Given the description of an element on the screen output the (x, y) to click on. 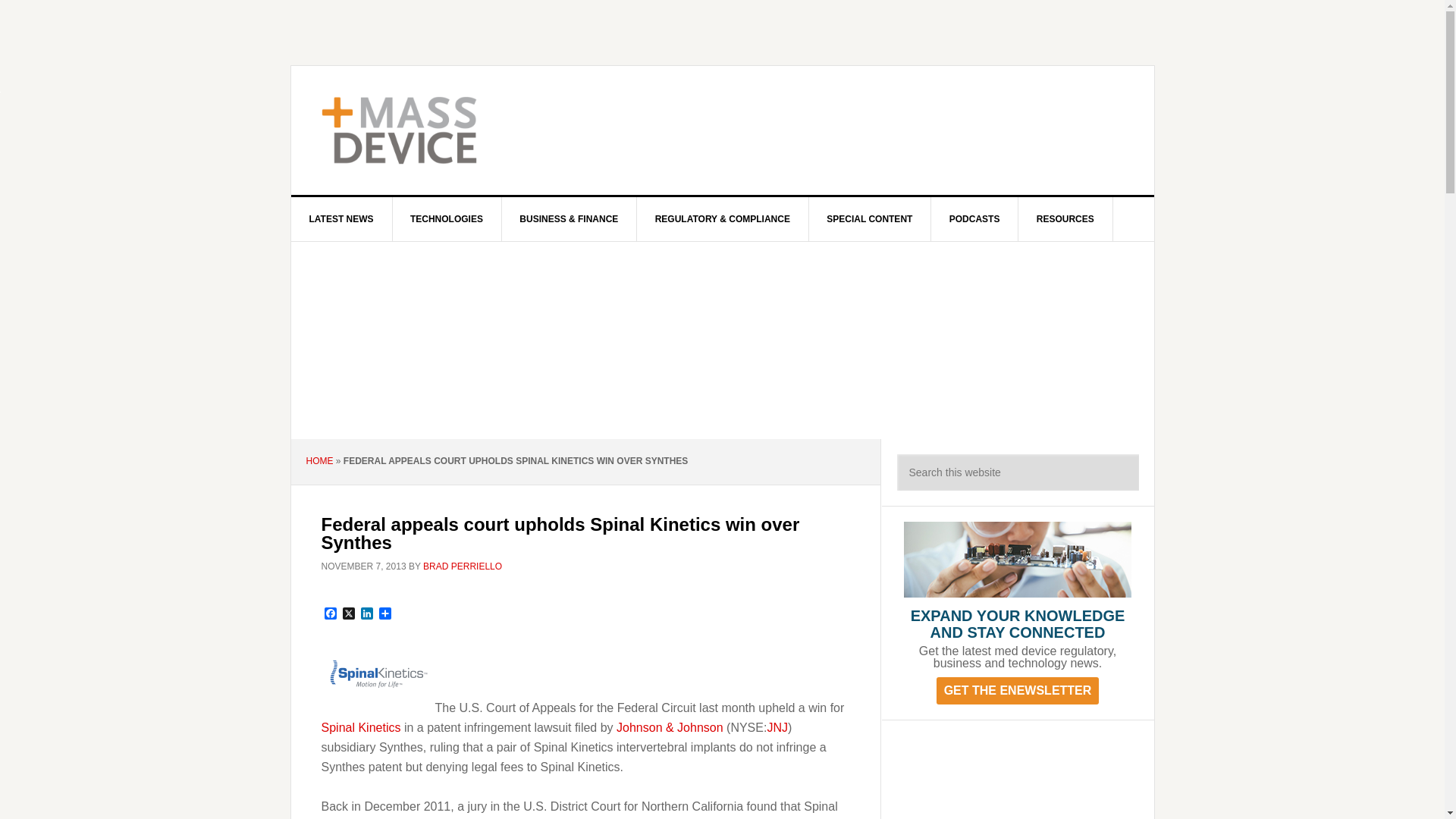
LinkedIn (366, 614)
MassDevice.com news (669, 727)
3rd party ad content (848, 130)
X (348, 614)
Facebook (330, 614)
SPECIAL CONTENT (869, 218)
LATEST NEWS (342, 218)
MASSDEVICE (419, 130)
TECHNOLOGIES (446, 218)
3rd party ad content (1017, 777)
